Given the description of an element on the screen output the (x, y) to click on. 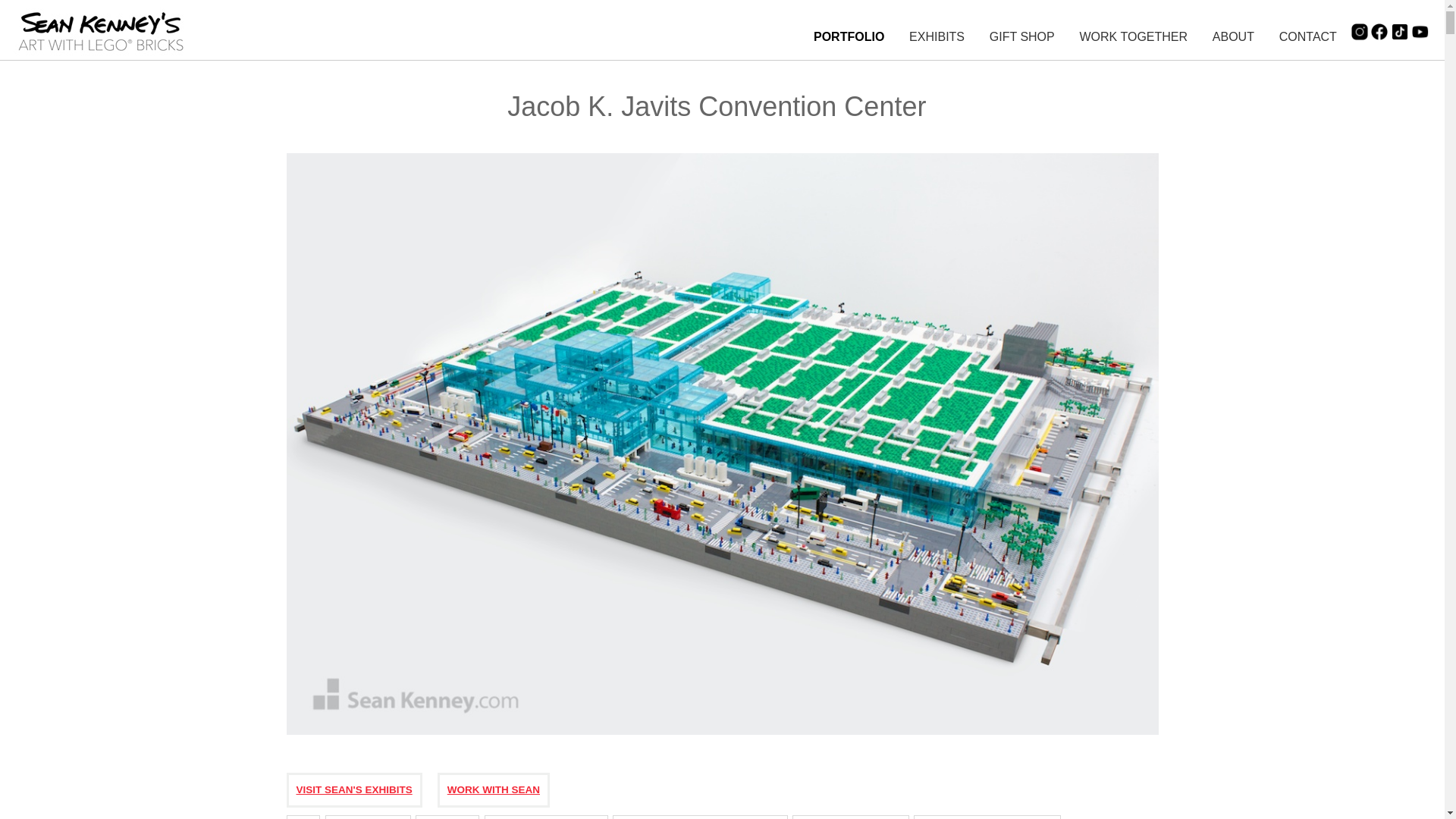
VISIT SEAN'S EXHIBITS (353, 789)
2016 (303, 816)
Click to return home (102, 57)
ARCHITECTURE (367, 816)
COMMISSIONED WORKS (546, 816)
BUILDINGS (446, 816)
WORK WITH SEAN (493, 789)
EXHIBITS (935, 36)
WORK TOGETHER (1134, 36)
PORTFOLIO (848, 36)
GIFT SHOP (1022, 36)
CONTACT (1307, 36)
ABOUT (1232, 36)
Jacob K. Javits Convention Center (722, 737)
